Given the description of an element on the screen output the (x, y) to click on. 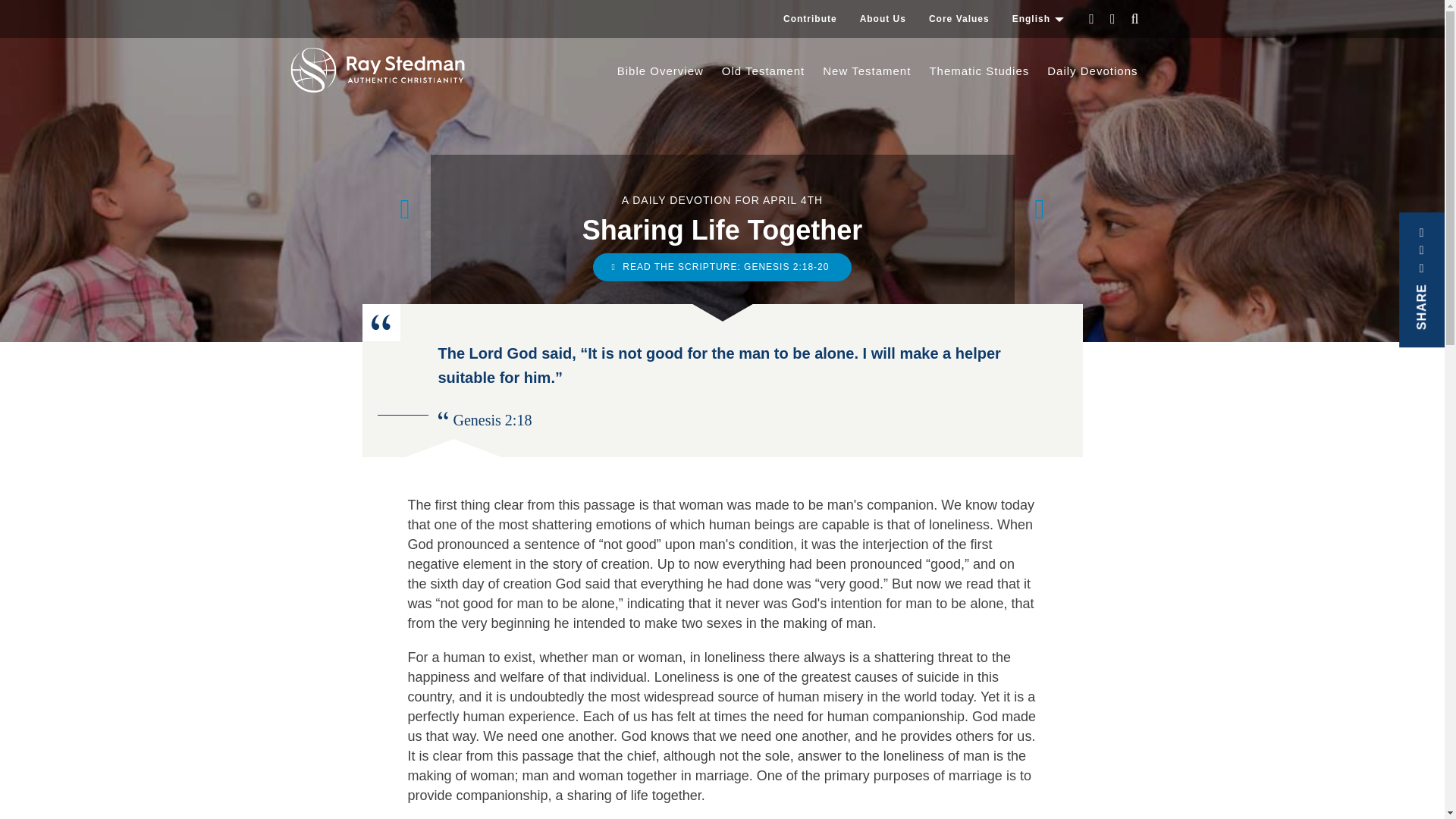
Devotion for Today (1092, 70)
Core Values (959, 18)
About Us (882, 18)
Bible Overview (660, 70)
Bible Overview (660, 70)
Home (382, 69)
Thematic Studies (979, 70)
Old Testament (763, 70)
New Testament (866, 70)
